Given the description of an element on the screen output the (x, y) to click on. 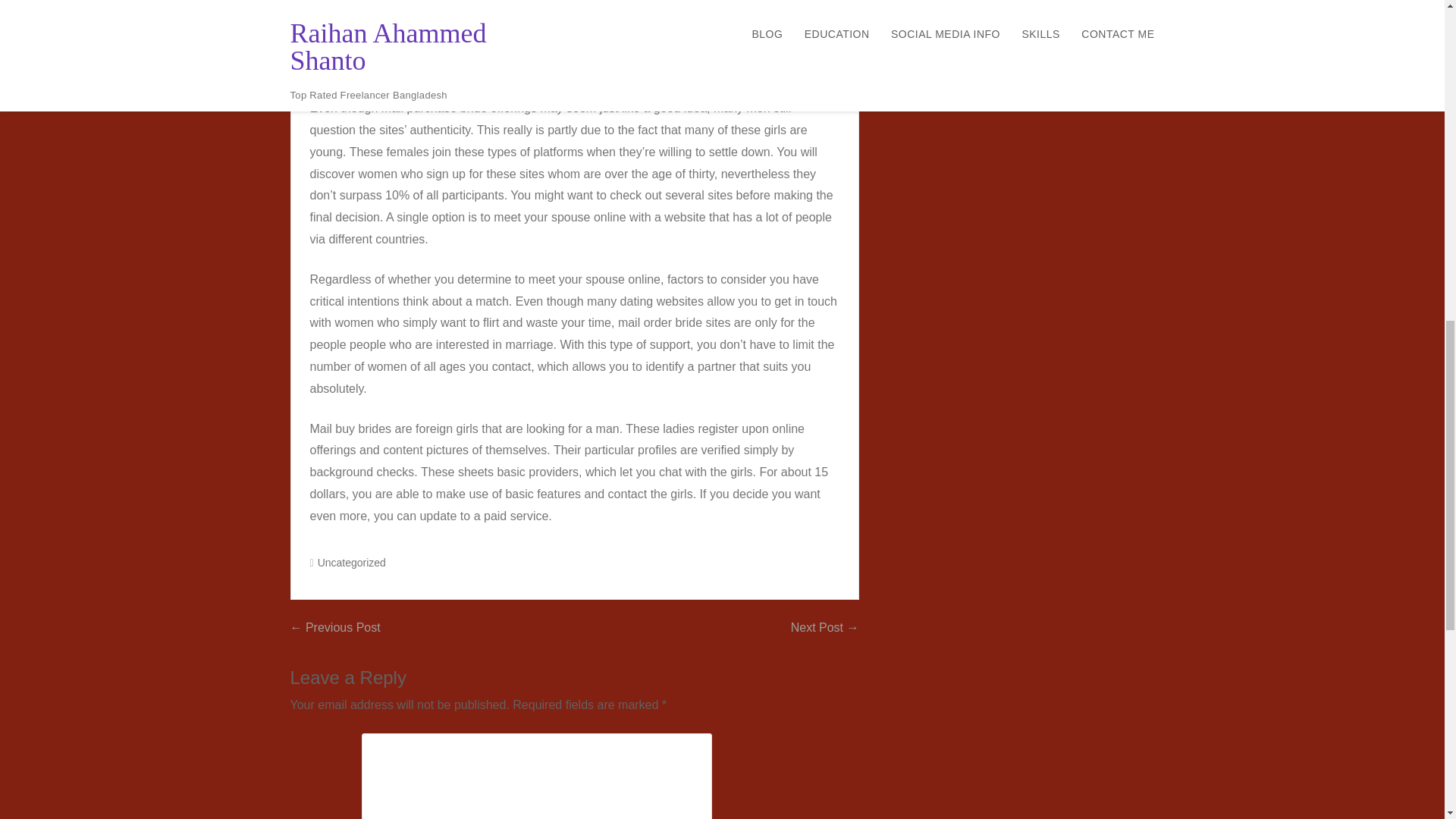
Uncategorized (352, 562)
